Given the description of an element on the screen output the (x, y) to click on. 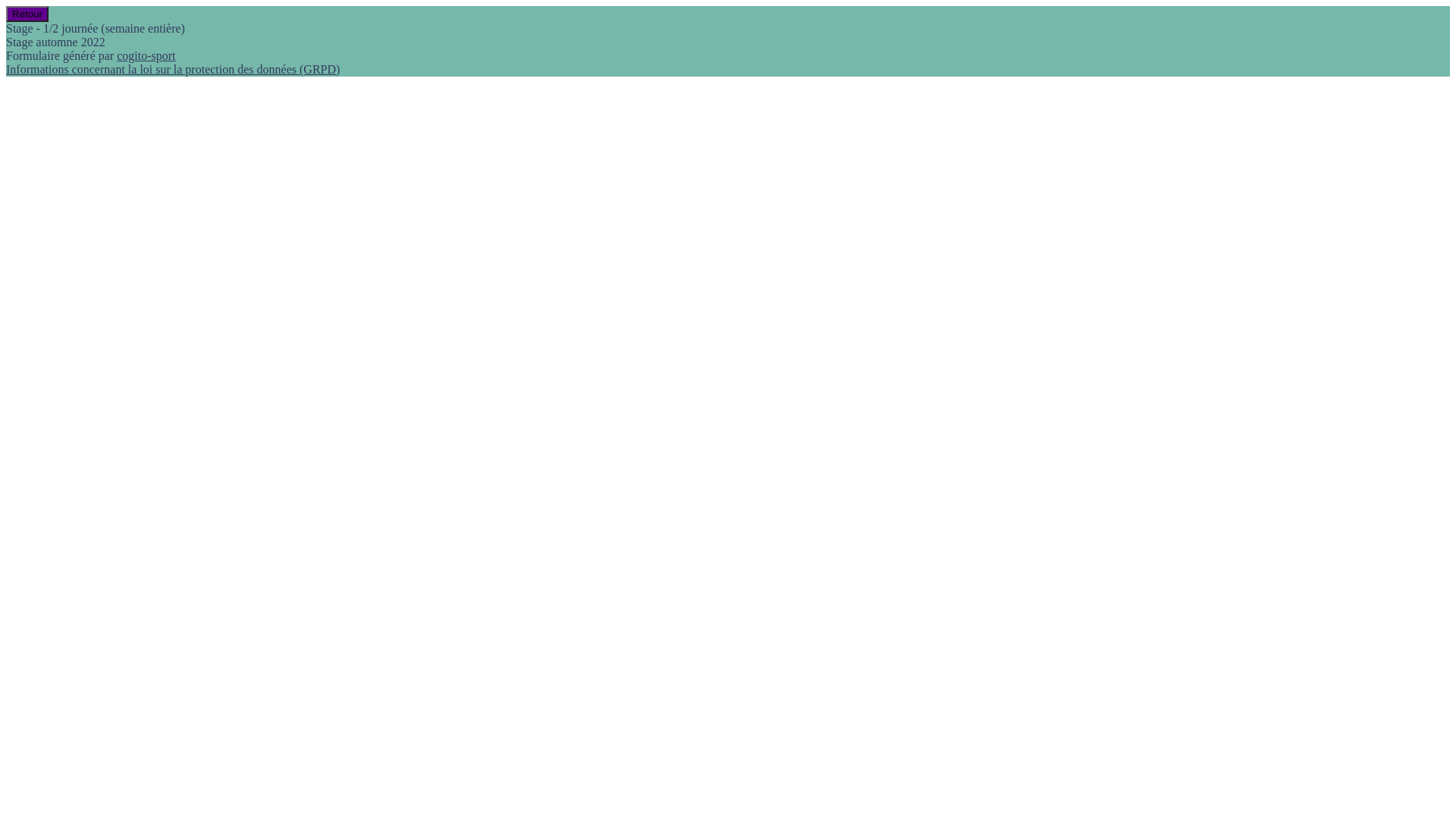
Retour Element type: text (27, 13)
cogito-sport Element type: text (145, 55)
